Given the description of an element on the screen output the (x, y) to click on. 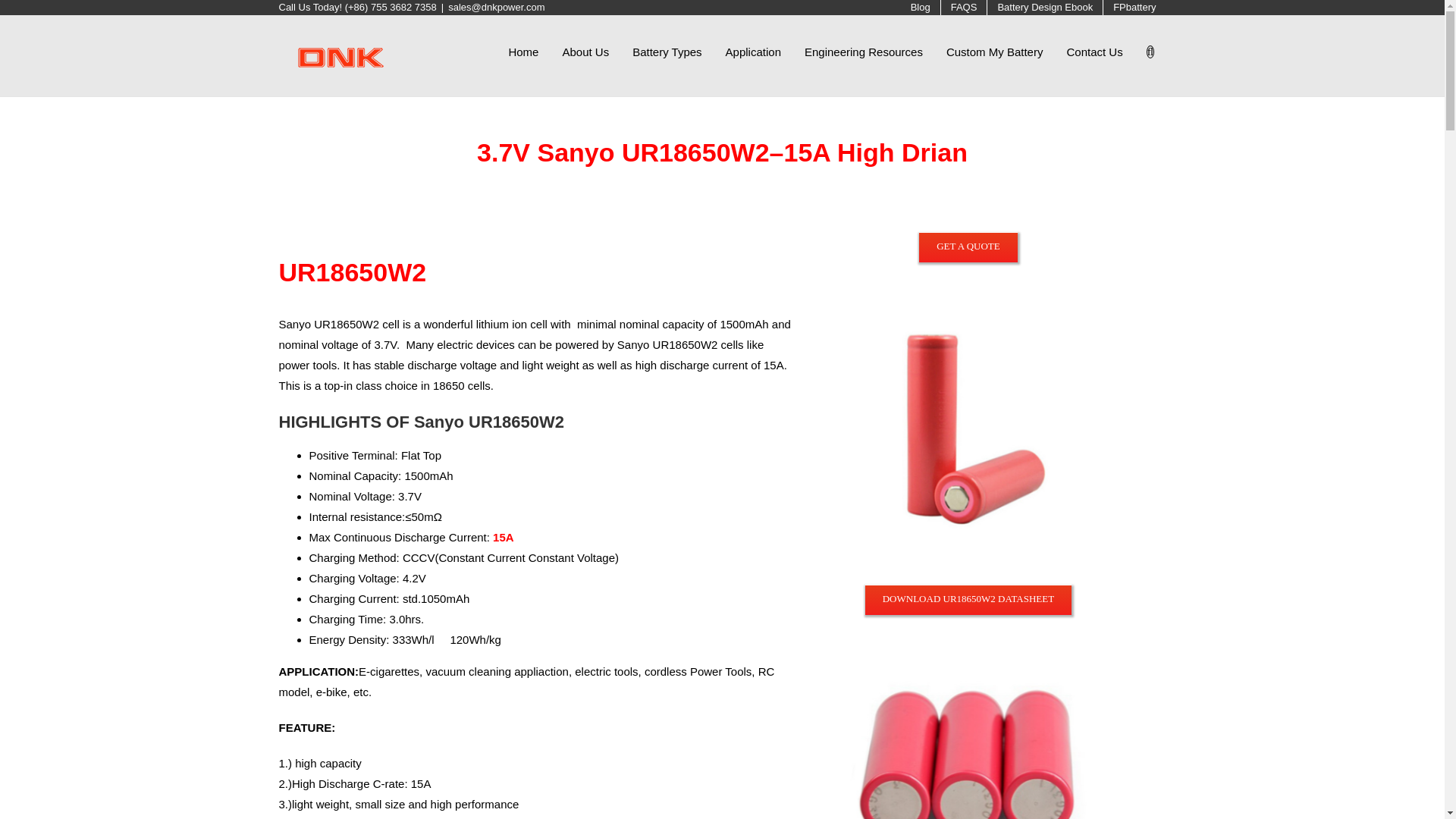
About Us (585, 50)
Sanyo UR18650W2 (968, 732)
FAQS (963, 7)
Battery Design Ebook (1044, 7)
Battery Types (667, 50)
Sanyo UR18650W2 (968, 422)
Blog (920, 7)
FPbattery (1134, 7)
